Given the description of an element on the screen output the (x, y) to click on. 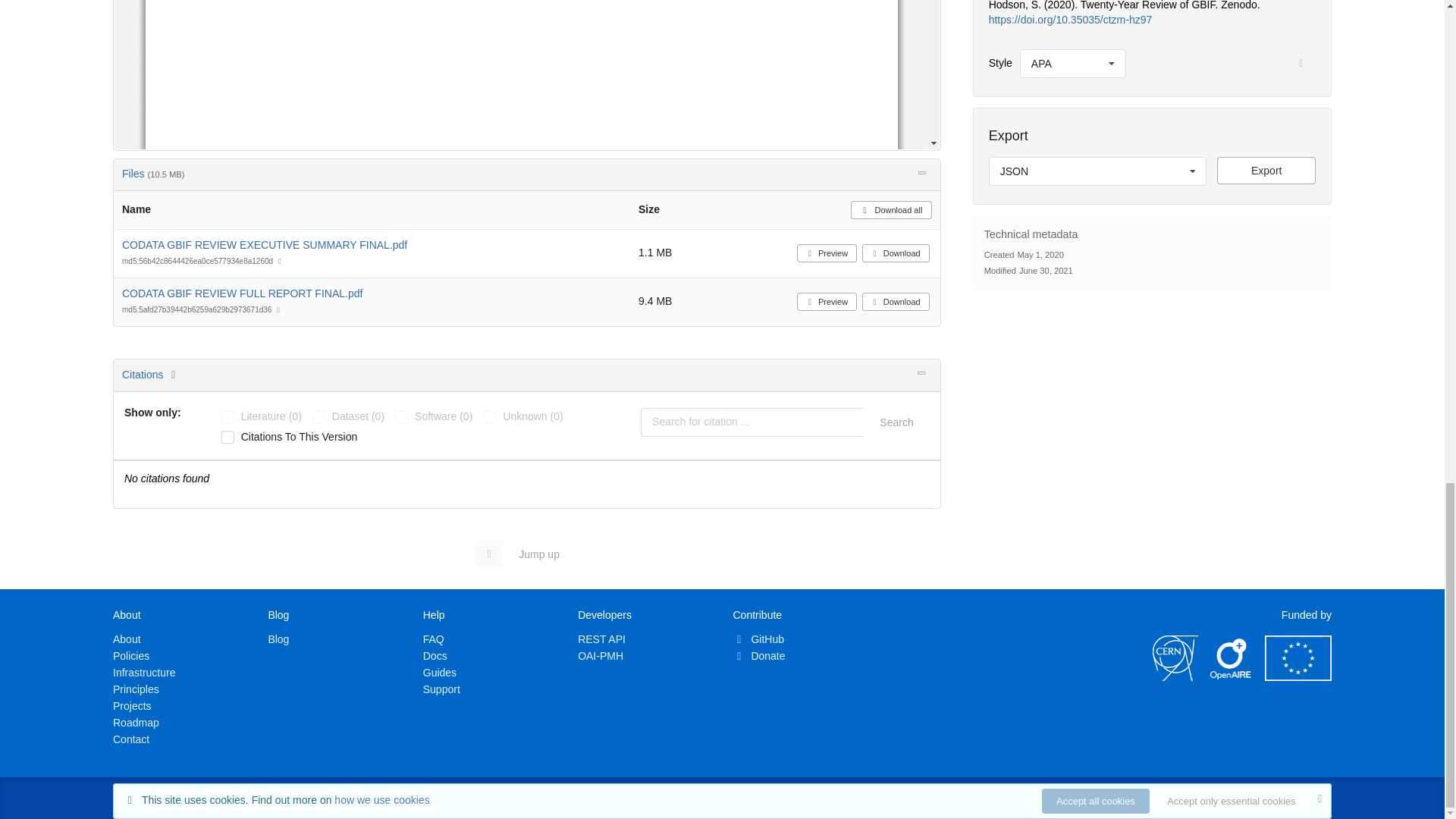
Preview (826, 301)
Preview (826, 253)
Download all (890, 209)
Download (895, 301)
Download (895, 253)
CODATA GBIF REVIEW FULL REPORT FINAL.pdf (242, 293)
Preview (527, 74)
CODATA GBIF REVIEW EXECUTIVE SUMMARY FINAL.pdf (264, 244)
Search (895, 421)
Download file (1266, 170)
